Given the description of an element on the screen output the (x, y) to click on. 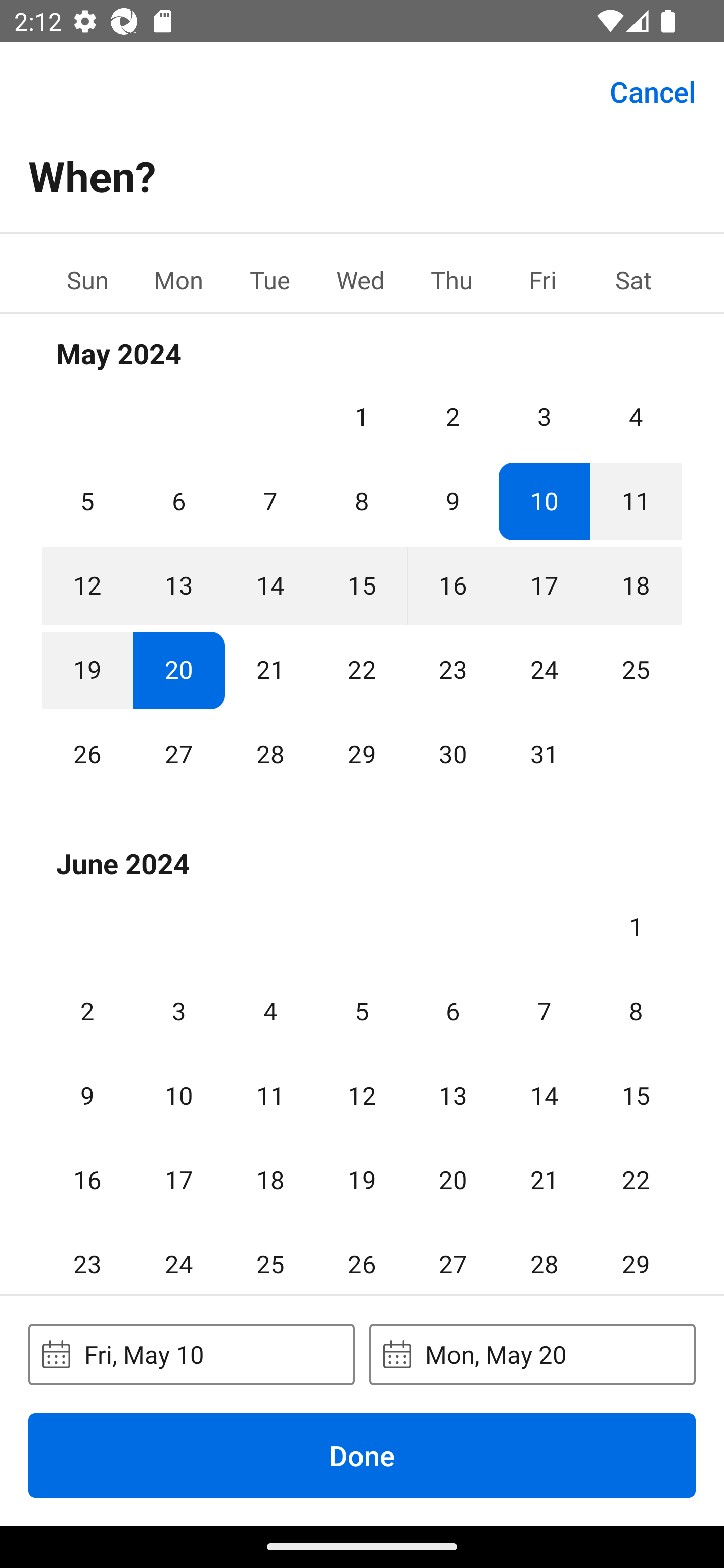
Cancel (652, 90)
Fri, May 10 (191, 1353)
Mon, May 20 (532, 1353)
Done (361, 1454)
